Given the description of an element on the screen output the (x, y) to click on. 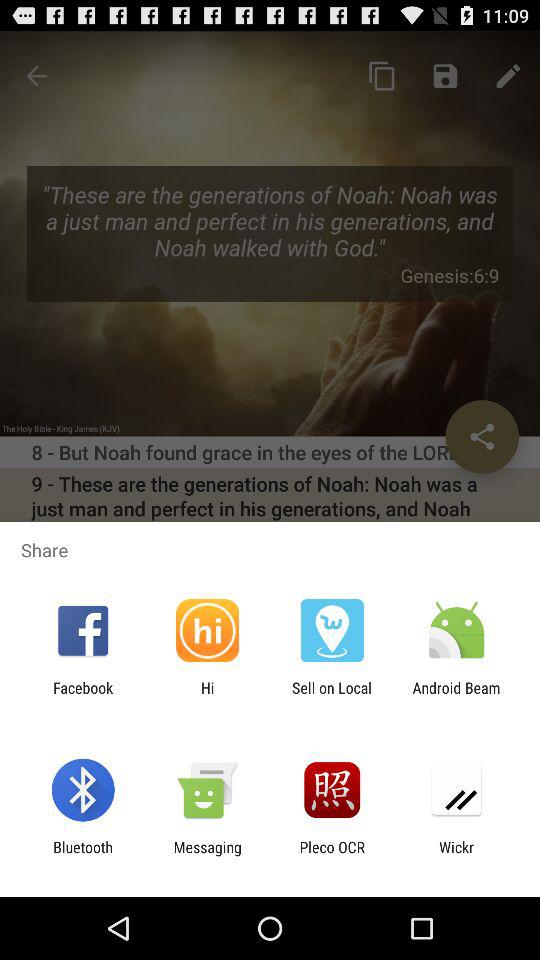
open the item to the right of the sell on local app (456, 696)
